Given the description of an element on the screen output the (x, y) to click on. 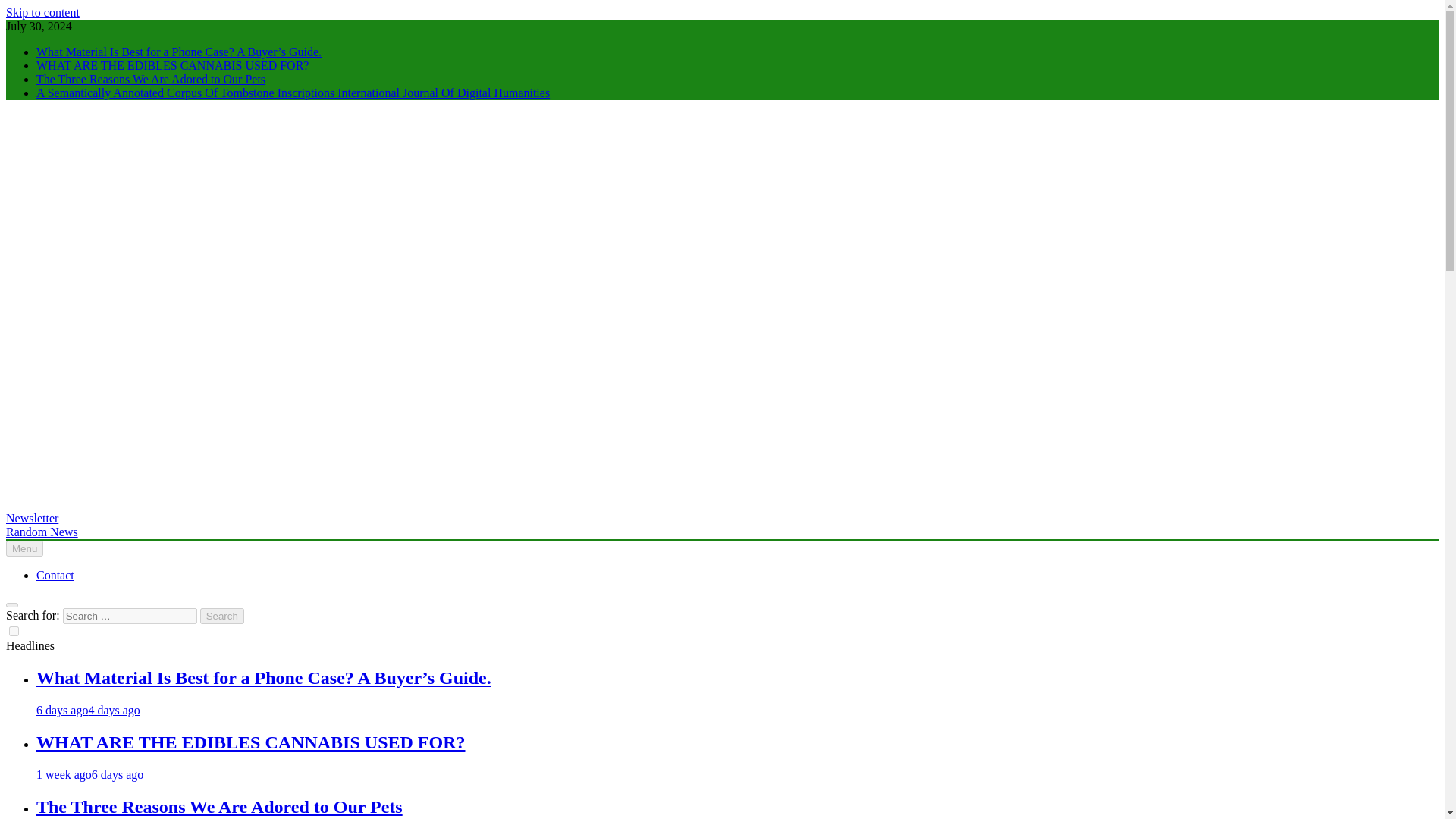
WHAT ARE THE EDIBLES CANNABIS USED FOR? (250, 742)
Final Gate (30, 530)
Random News (41, 531)
WHAT ARE THE EDIBLES CANNABIS USED FOR? (172, 65)
The Three Reasons We Are Adored to Our Pets (219, 806)
WHAT ARE THE EDIBLES CANNABIS USED FOR? (250, 742)
The Three Reasons We Are Adored to Our Pets (150, 78)
6 days ago4 days ago (87, 709)
Newsletter (31, 517)
Contact (55, 574)
WHAT ARE THE EDIBLES CANNABIS USED FOR? (172, 65)
Skip to content (42, 11)
The Three Reasons We Are Adored to Our Pets (150, 78)
1 week ago6 days ago (89, 774)
